Given the description of an element on the screen output the (x, y) to click on. 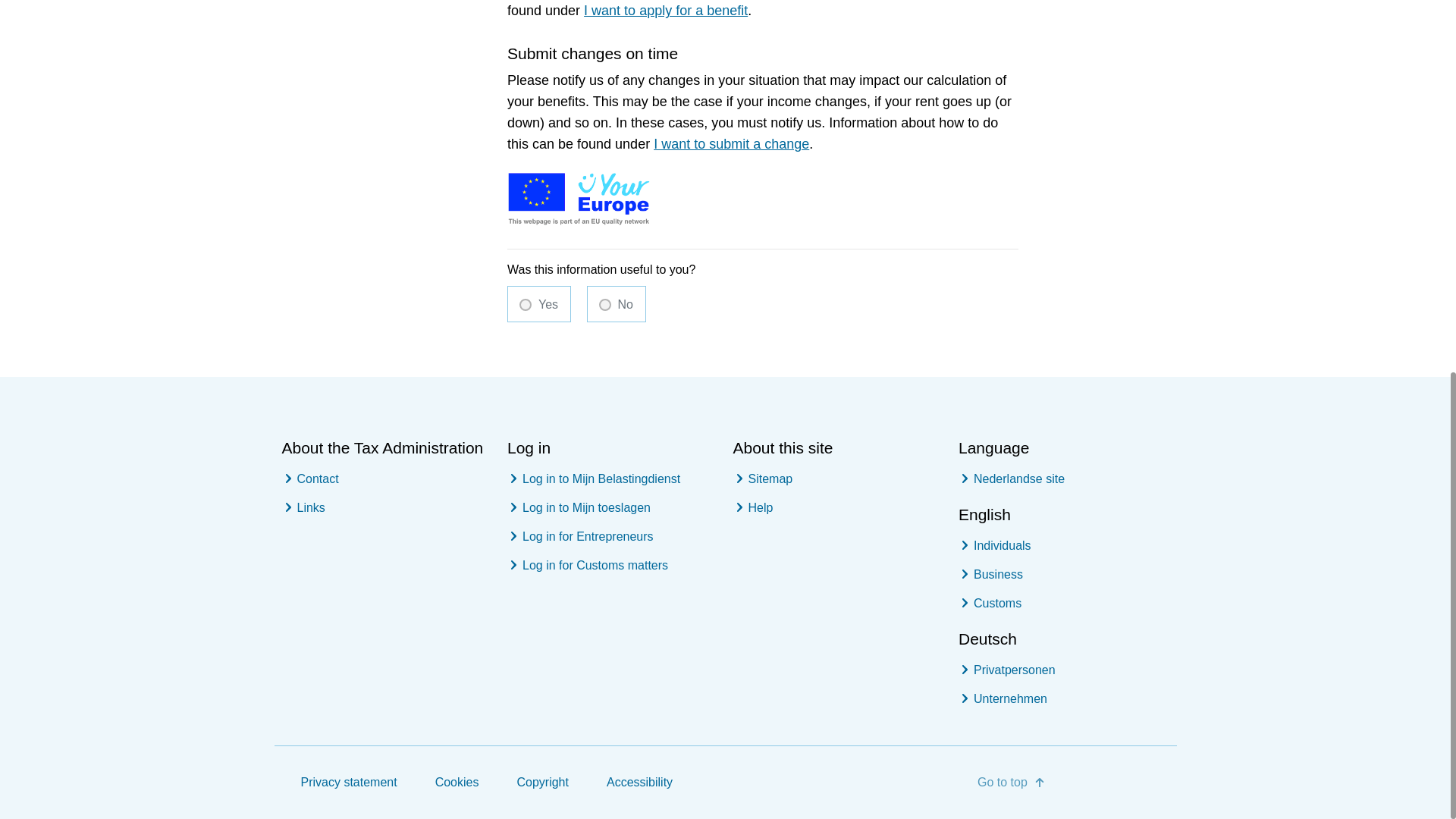
I want to apply for a benefit (665, 10)
